Given the description of an element on the screen output the (x, y) to click on. 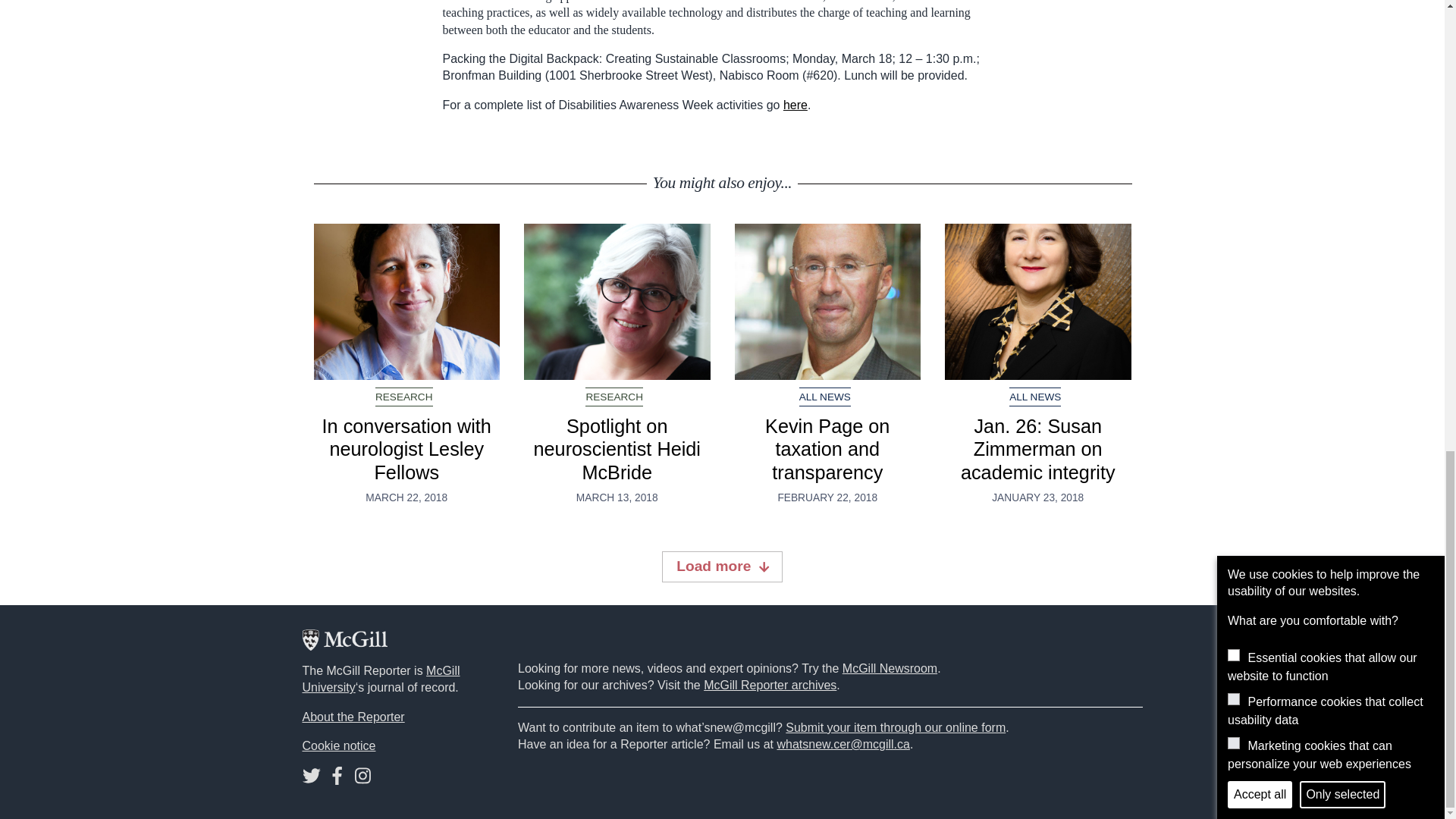
here (795, 104)
Follow us on Facebook (336, 778)
ALL NEWS (1035, 396)
Spotlight on neuroscientist Heidi McBride (617, 449)
Spotlight on neuroscientist Heidi McBride (617, 301)
McGill University (380, 678)
Jan. 26: Susan Zimmerman on academic integrity (1037, 301)
In conversation with neurologist Lesley Fellows (407, 301)
RESEARCH (614, 396)
Follow us on Instagram (363, 778)
RESEARCH (403, 396)
Kevin Page on taxation and transparency (827, 449)
About the Reporter (352, 716)
Jan. 26: Susan Zimmerman on academic integrity (1037, 449)
ALL NEWS (824, 396)
